Given the description of an element on the screen output the (x, y) to click on. 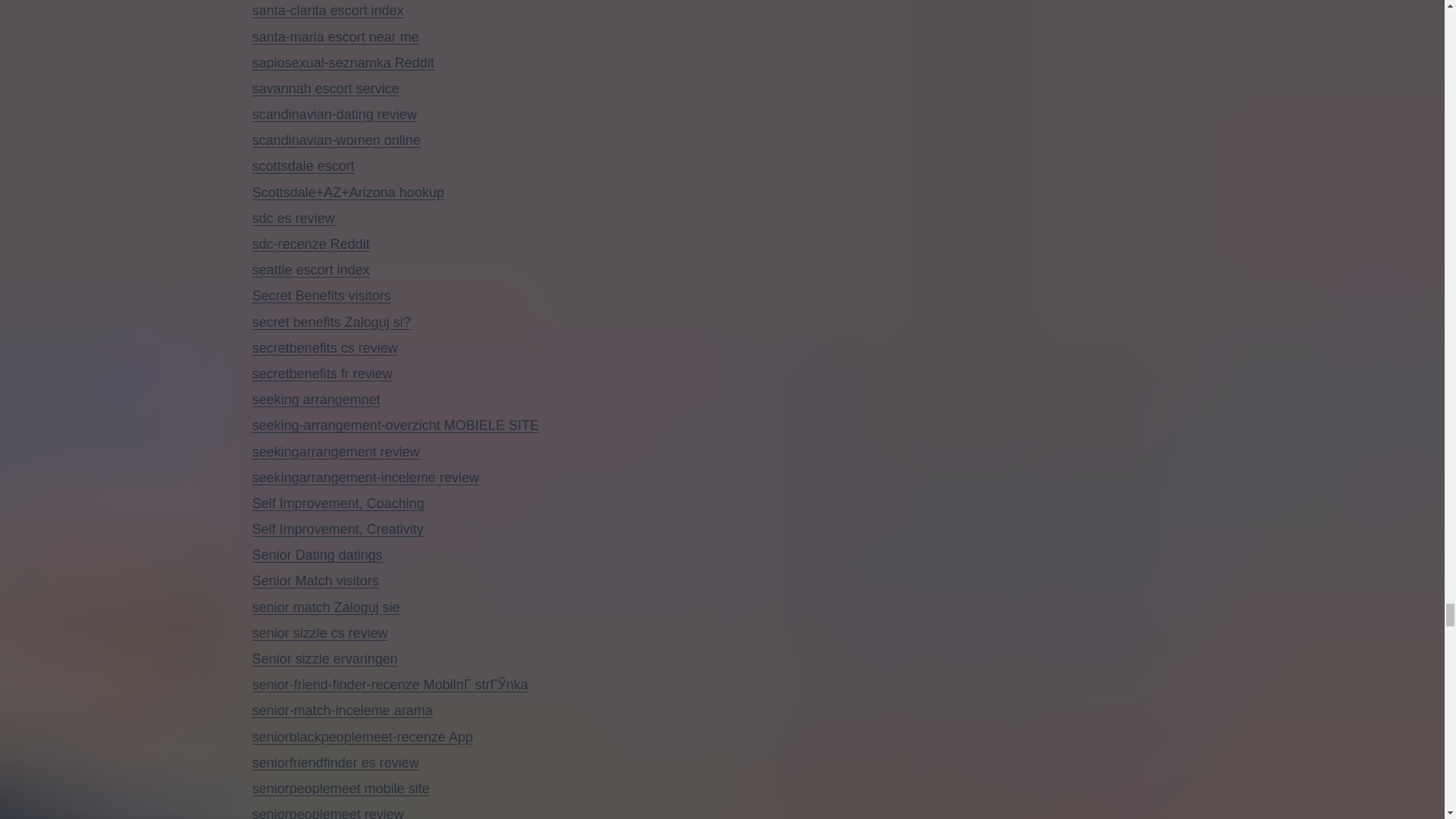
Self Improvement, Coaching (337, 503)
